Given the description of an element on the screen output the (x, y) to click on. 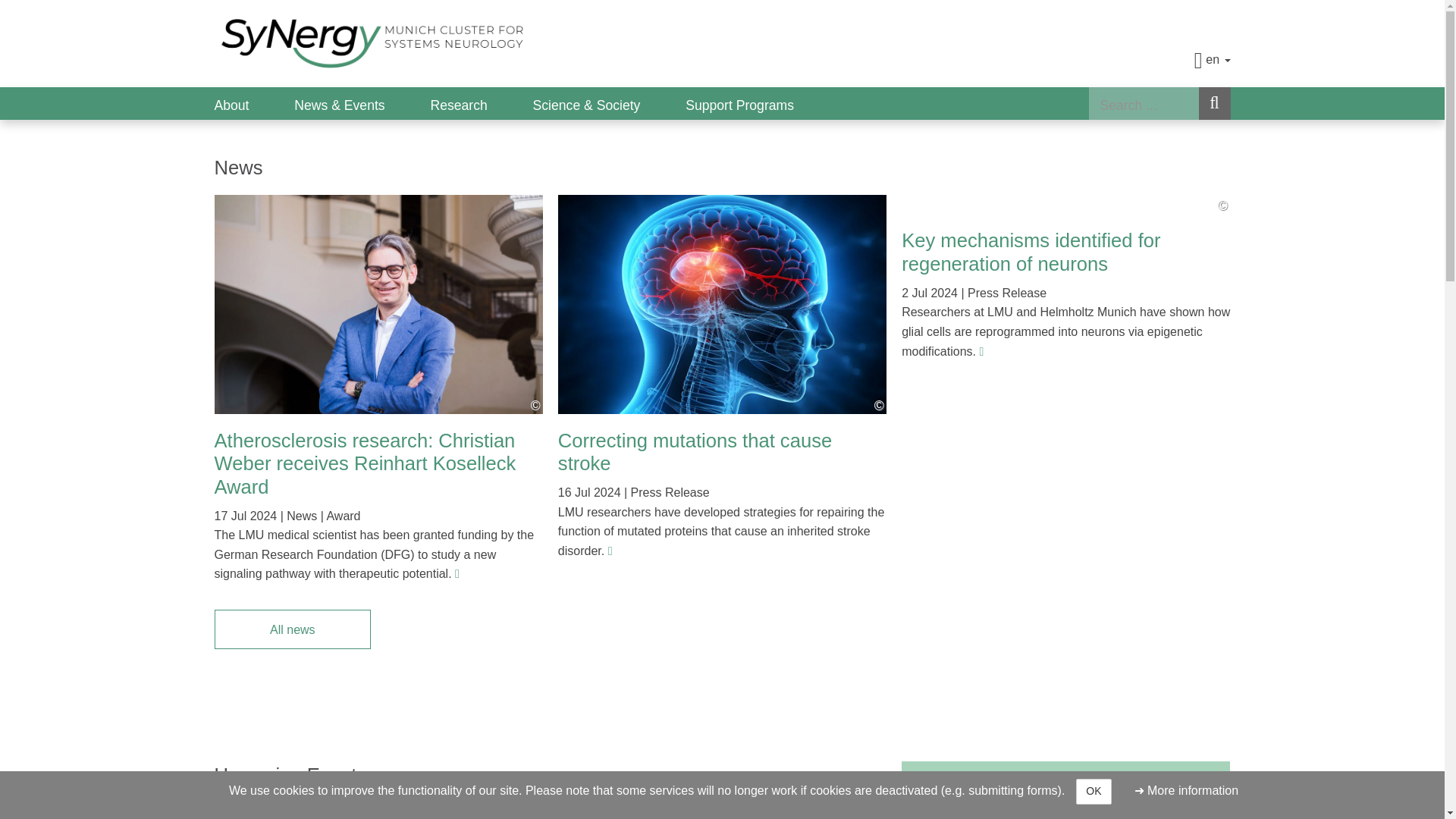
Research (480, 102)
Image without a title (730, 304)
About (254, 102)
Search (1214, 102)
podcast (923, 794)
Support Programs (739, 102)
Correcting mutations that cause stroke (694, 452)
OK (1092, 791)
Image without a title (378, 304)
